Given the description of an element on the screen output the (x, y) to click on. 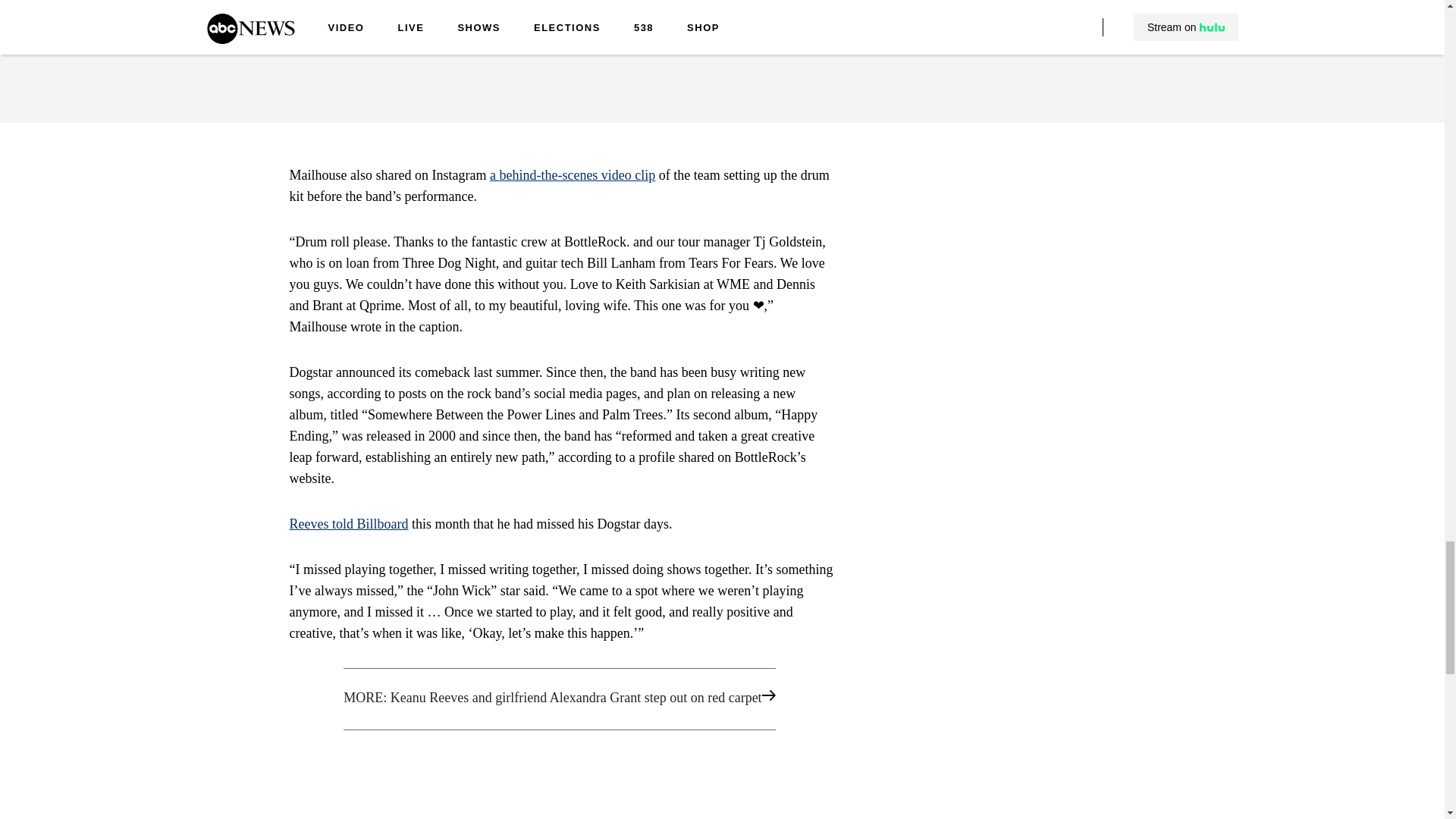
a behind-the-scenes video clip (572, 174)
Reeves told Billboard (349, 523)
Keanu Reeves to star in Hulu's 'Devil in the White City' (560, 22)
